Given the description of an element on the screen output the (x, y) to click on. 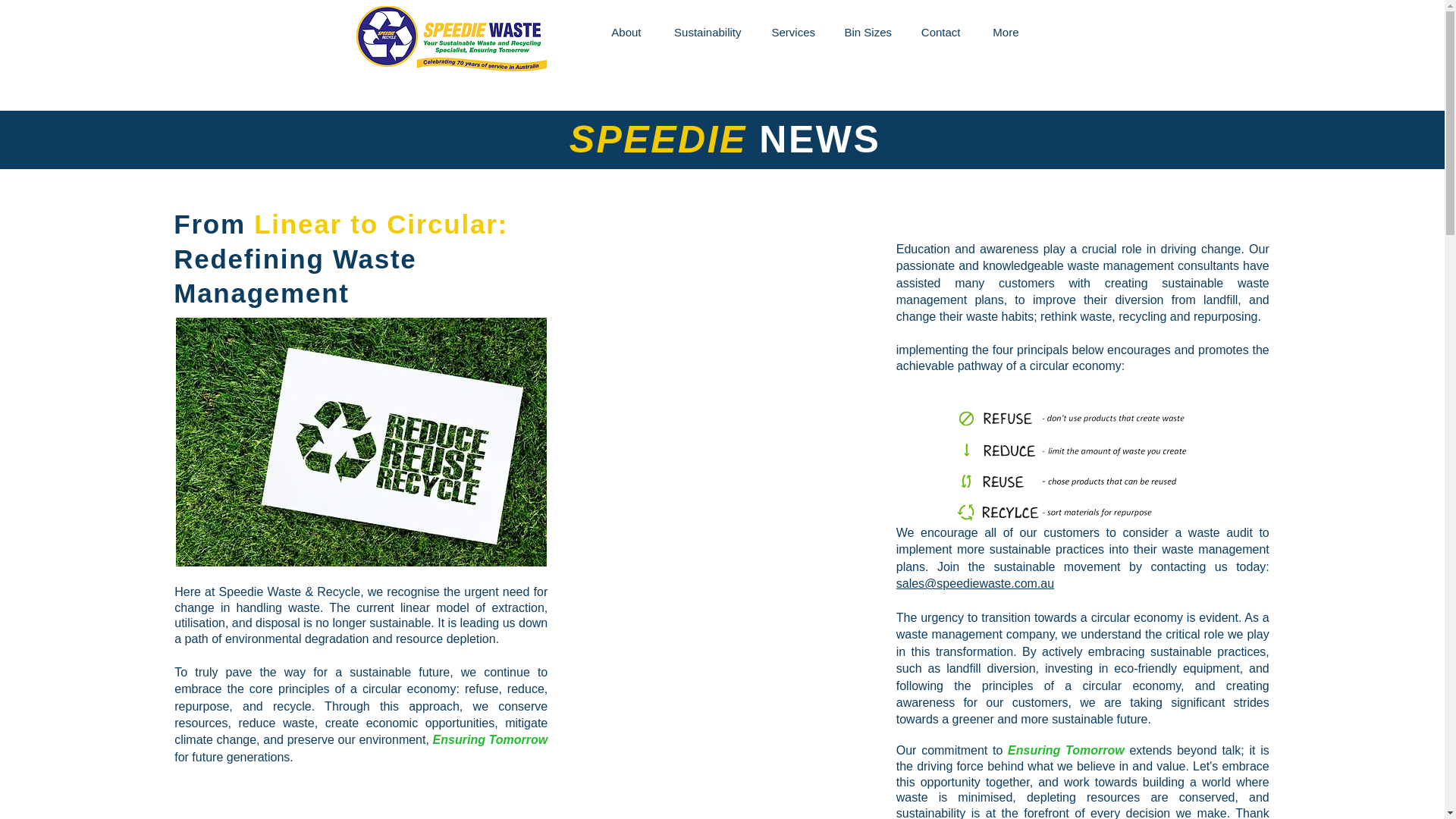
Bin Sizes (867, 31)
About (625, 31)
Services (793, 31)
Contact (940, 31)
Sustainability (706, 31)
